Given the description of an element on the screen output the (x, y) to click on. 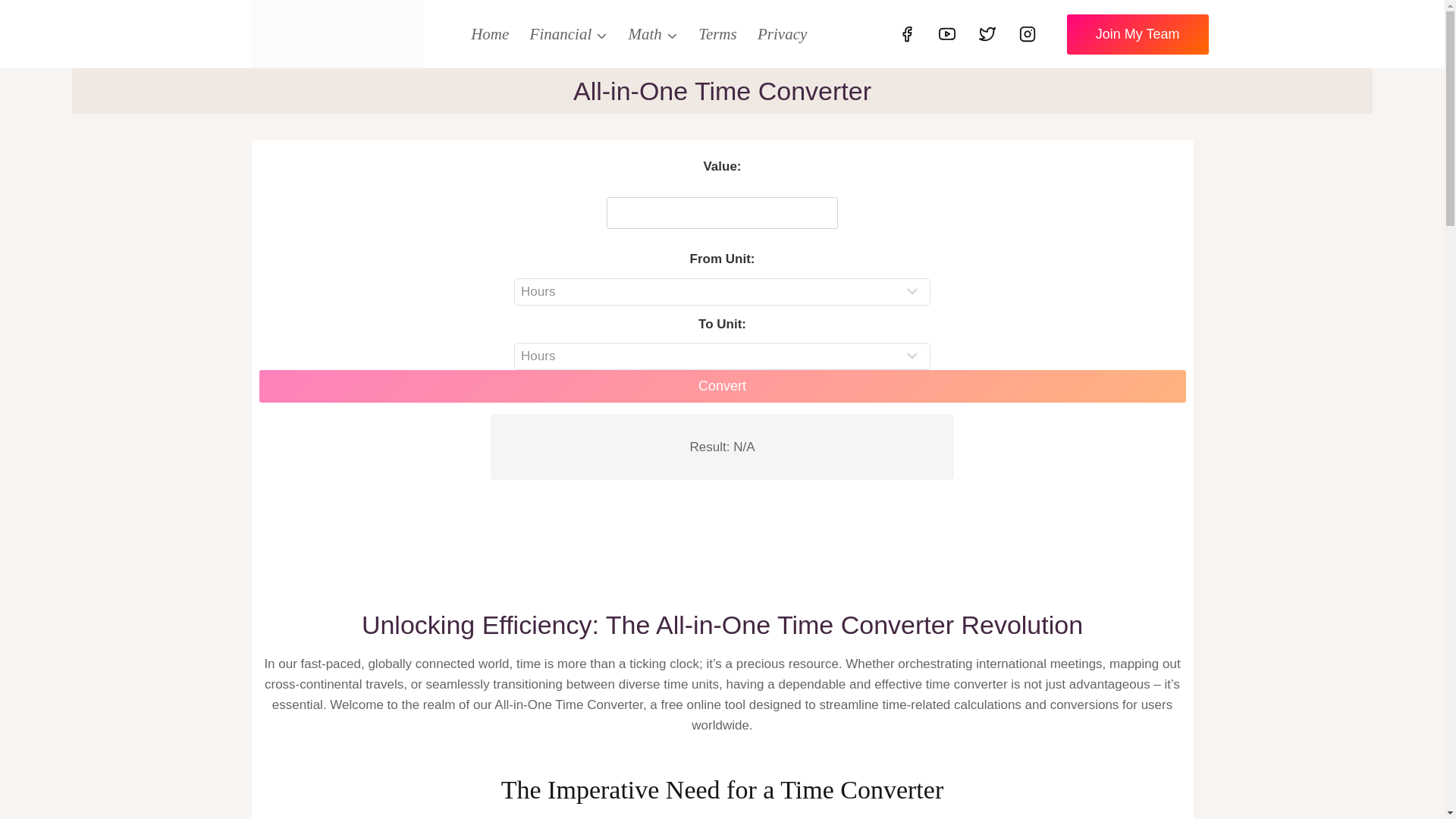
Financial (568, 33)
Home (490, 33)
Convert (722, 386)
Privacy (781, 33)
Math (652, 33)
Join My Team (1137, 34)
Terms (716, 33)
